Given the description of an element on the screen output the (x, y) to click on. 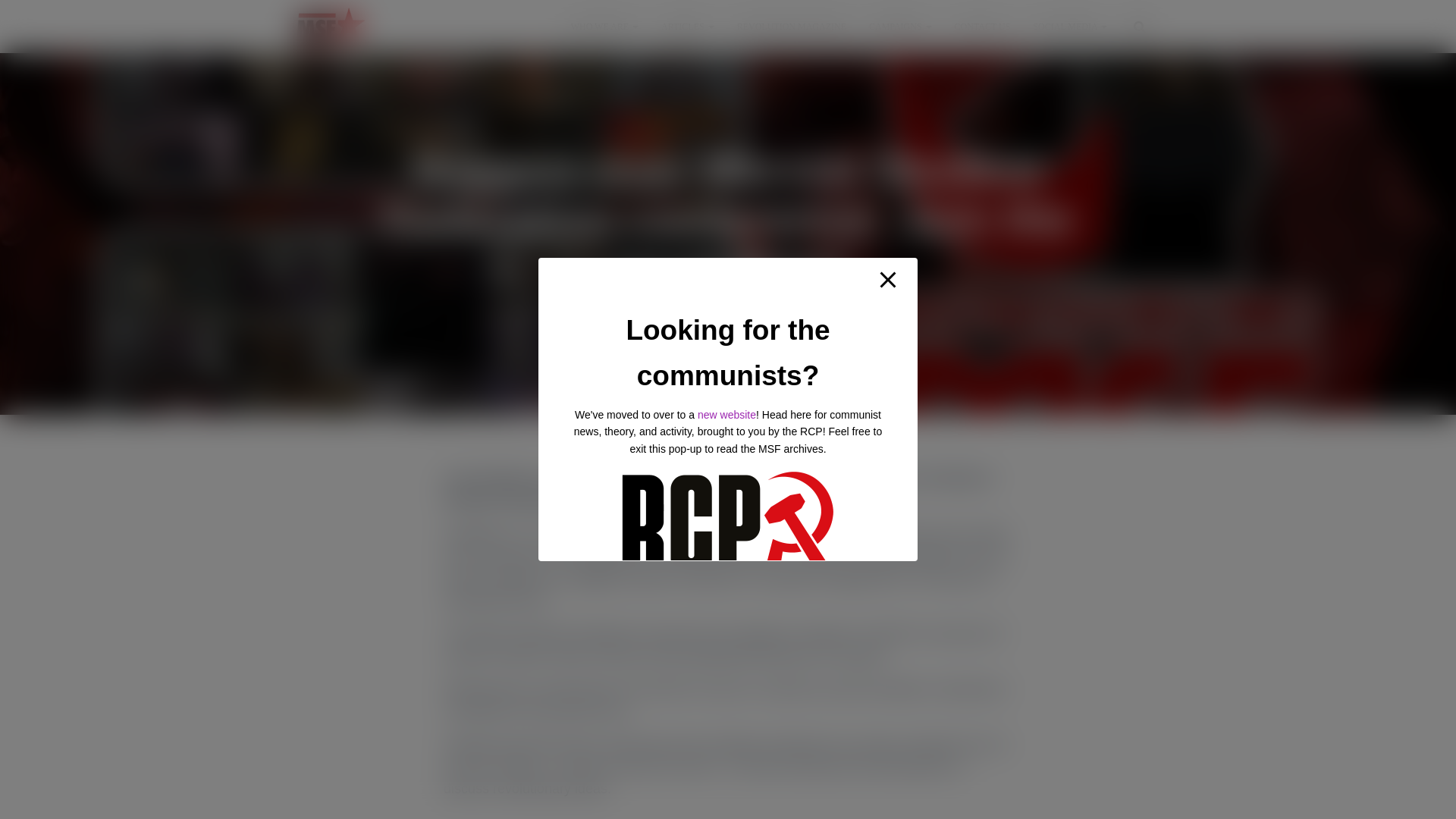
Marxist Student Federation (330, 26)
Articles (687, 26)
CAMPAIGNS (900, 26)
ARTICLES (687, 26)
CONTACT US (982, 26)
Who we are (604, 26)
REVOLUTION MAGAZINE (791, 26)
WHO WE ARE (604, 26)
SOCIAL MEDIA (1070, 26)
